Given the description of an element on the screen output the (x, y) to click on. 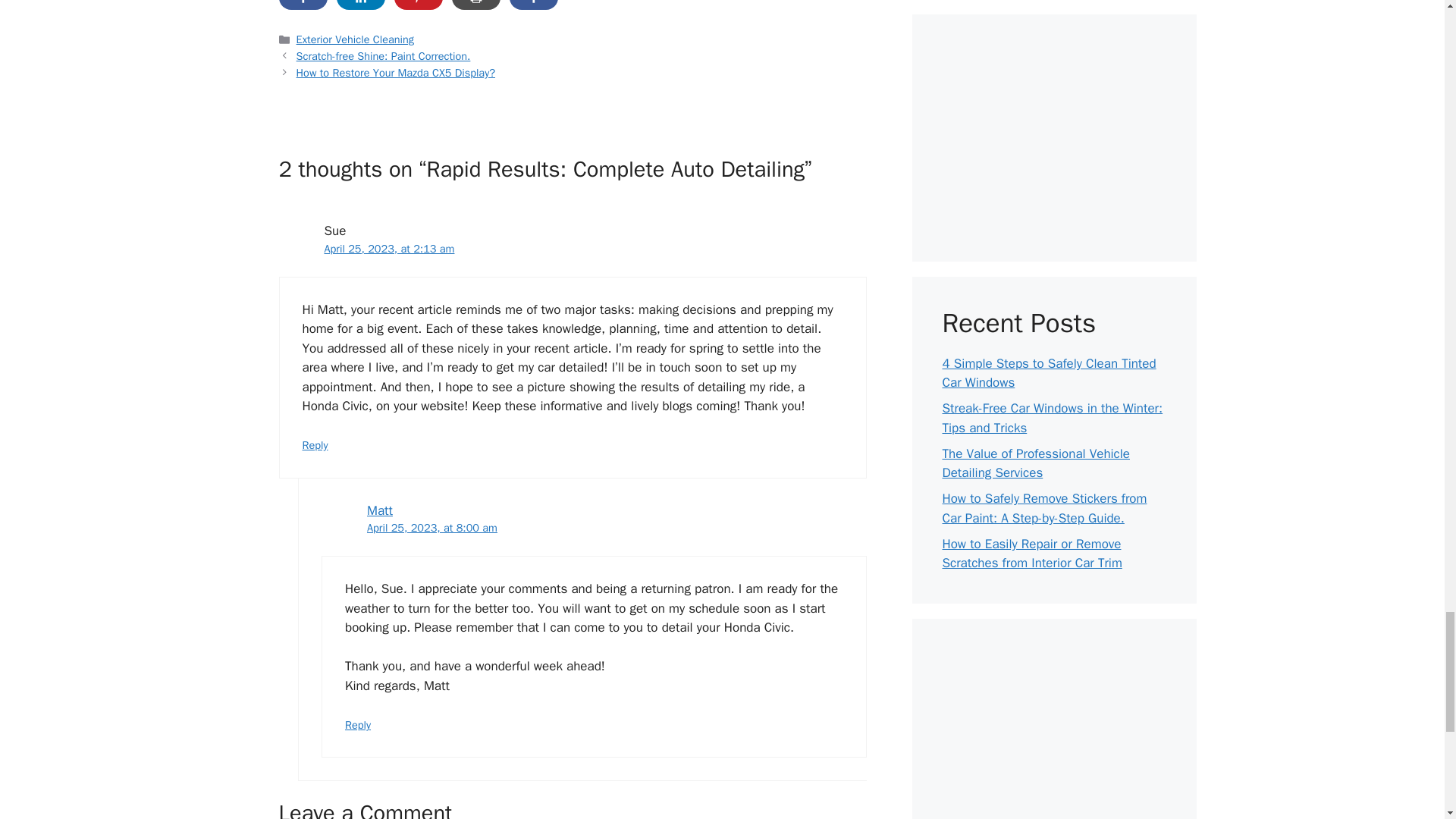
Matt (379, 510)
How to Restore Your Mazda CX5 Display? (396, 72)
Reply (358, 725)
Scratch-free Shine: Paint Correction. (383, 56)
April 25, 2023, at 8:00 am (431, 527)
Reply (314, 445)
April 25, 2023, at 2:13 am (389, 248)
Exterior Vehicle Cleaning (355, 38)
